Given the description of an element on the screen output the (x, y) to click on. 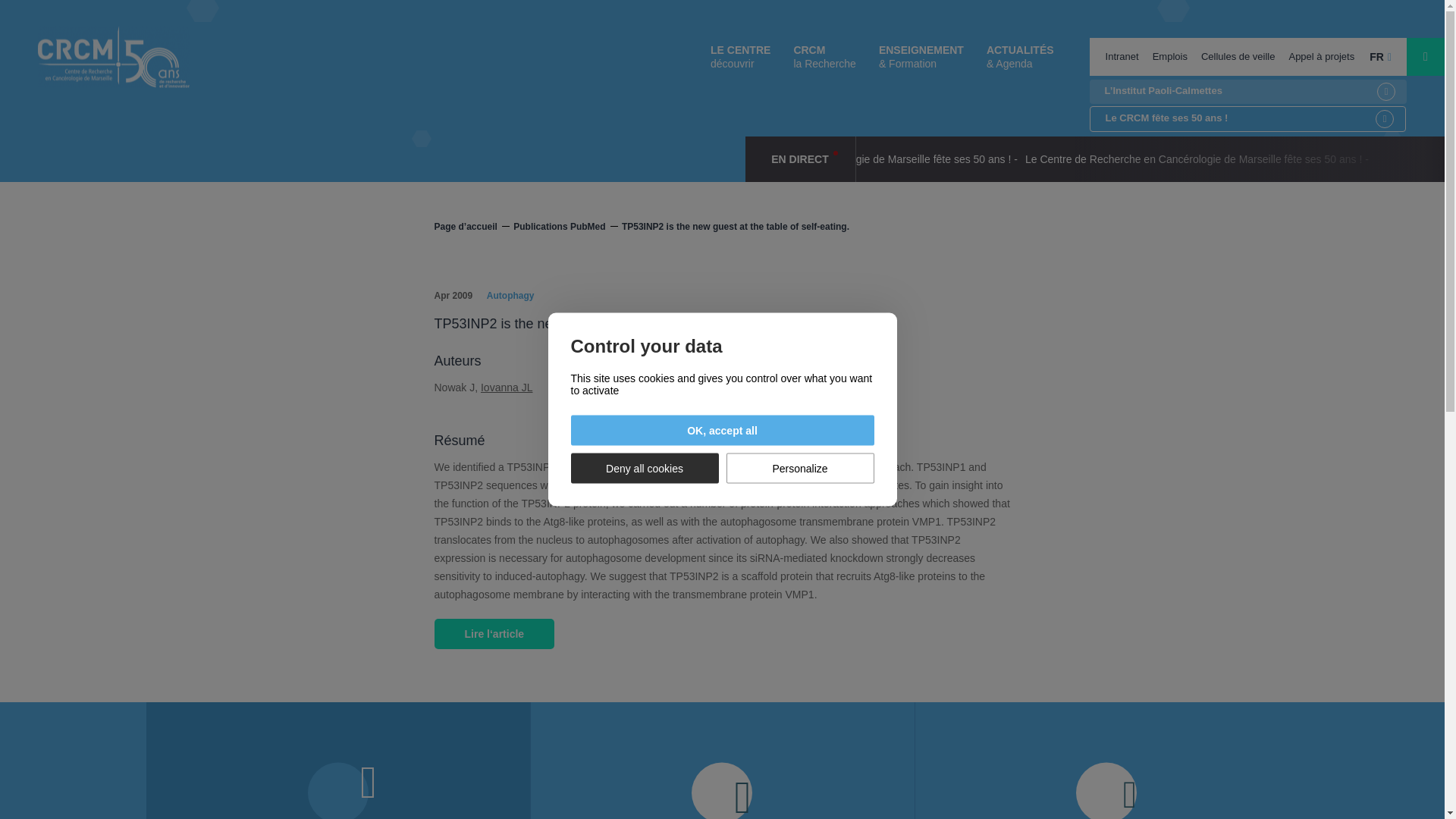
Cellules de veille (1237, 56)
FR (1380, 56)
Intranet (1122, 56)
Emplois (1169, 56)
Iovanna JL (506, 387)
Publications PubMed (565, 226)
Langue du site (1380, 56)
